Given the description of an element on the screen output the (x, y) to click on. 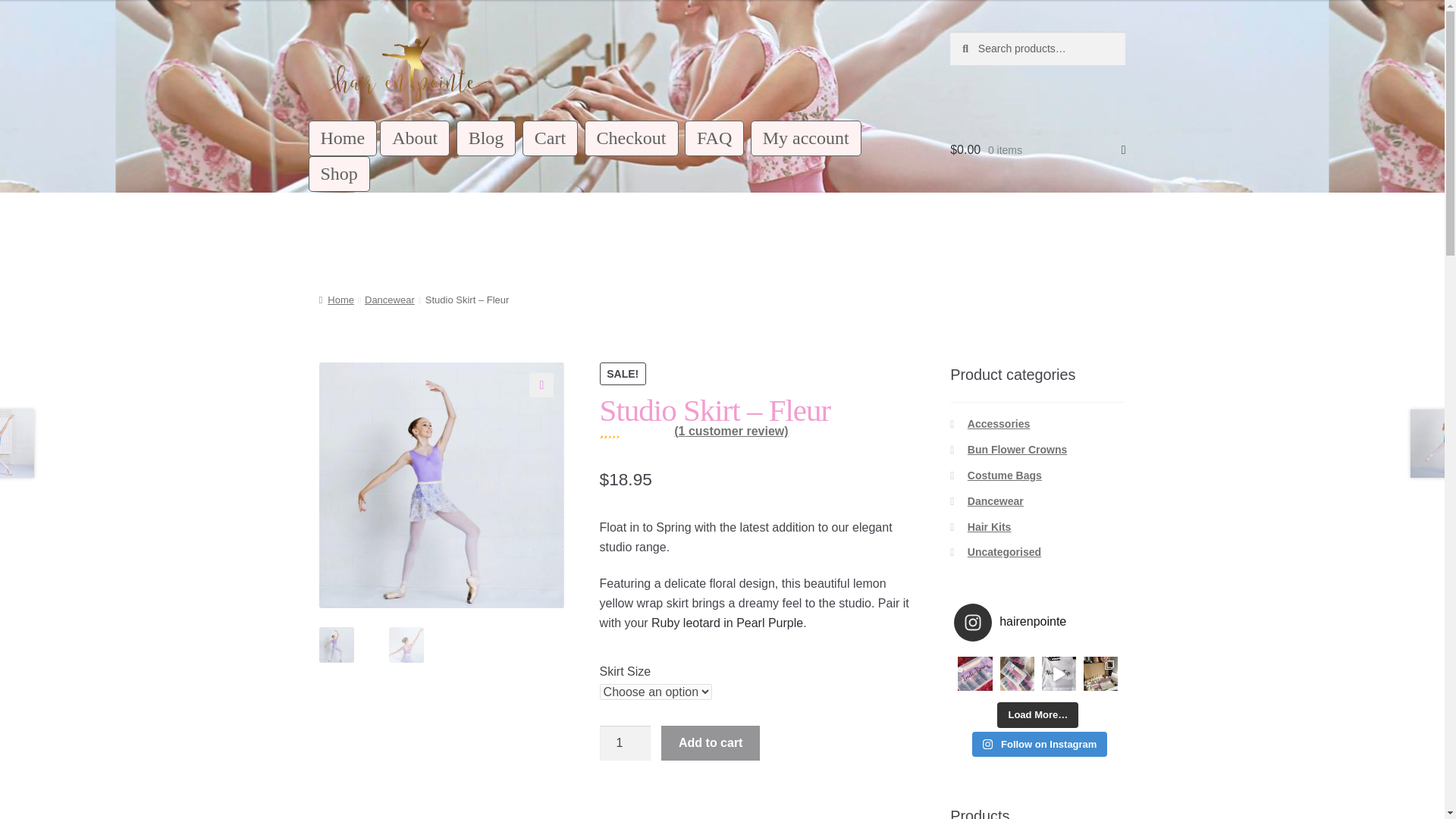
Checkout (631, 138)
hair-en-pointe-studio-skirt-fleur-1 (441, 485)
PayPal Message 1 (757, 805)
Dancewear (389, 299)
Cart (550, 138)
My account (806, 138)
View your shopping cart (1037, 149)
Ruby leotard in Pearl Purple (726, 622)
Add to cart (710, 742)
Blog (486, 138)
Shop (338, 173)
About (414, 138)
1 (624, 742)
